Given the description of an element on the screen output the (x, y) to click on. 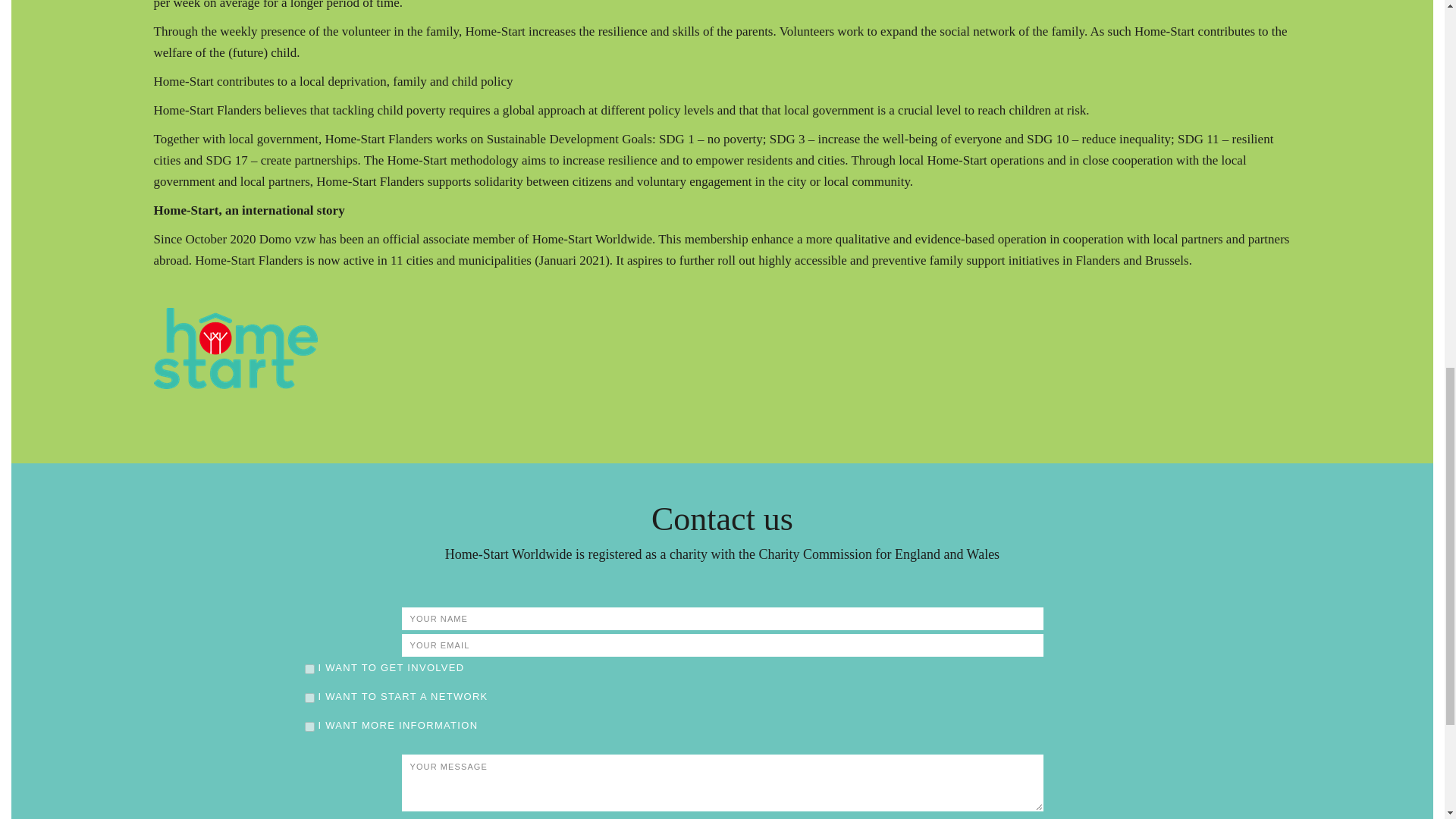
I WANT MORE INFORMATION (309, 726)
I WANT TO START A NETWORK (309, 697)
I WANT TO GET INVOLVED (309, 669)
